Given the description of an element on the screen output the (x, y) to click on. 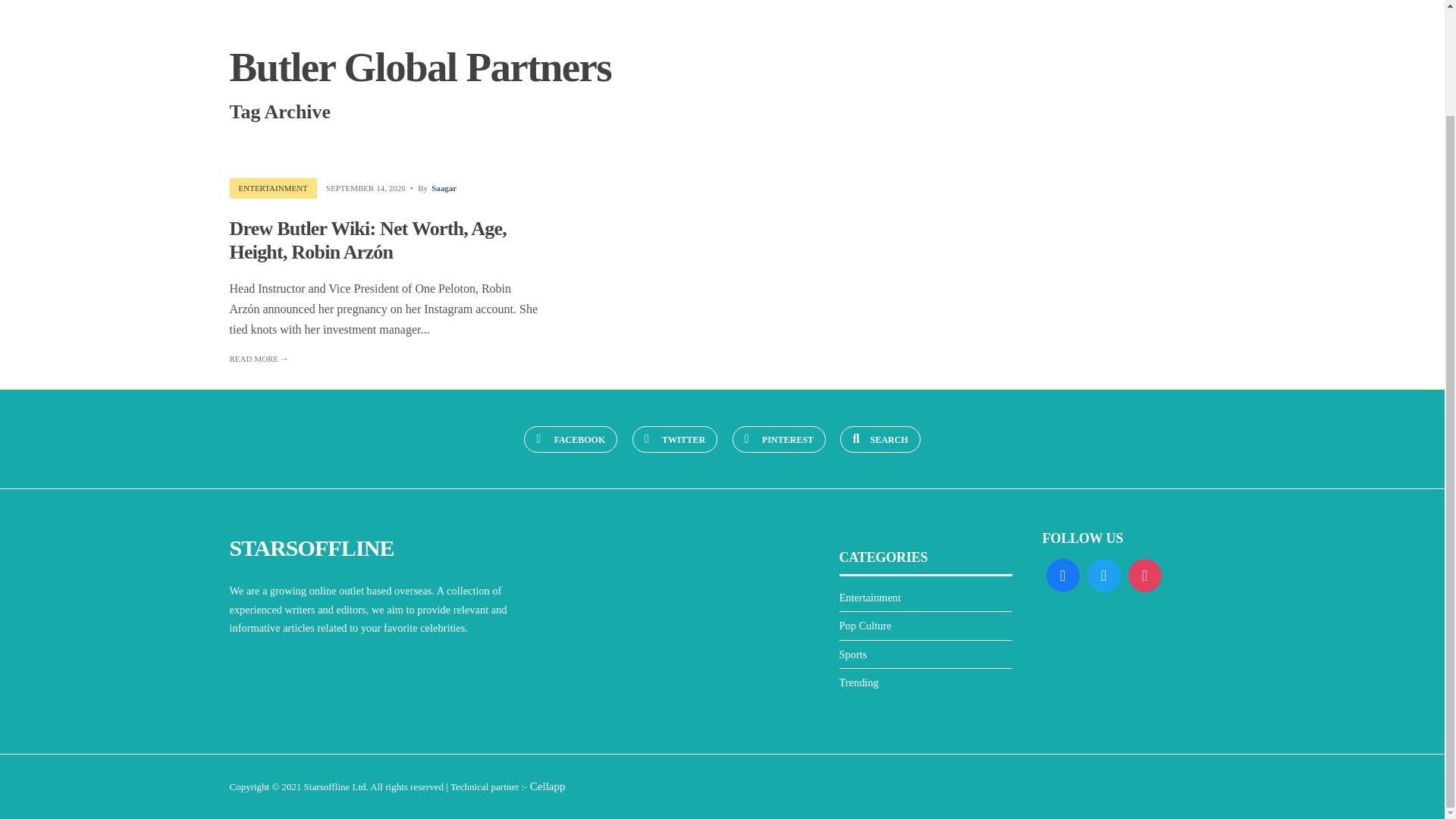
Posts by Saagar (443, 187)
SEARCH (880, 438)
Starsoffline (326, 786)
Saagar (443, 187)
Cellapp (547, 786)
Sports (852, 654)
ENTERTAINMENT (272, 187)
Pop Culture (864, 625)
PINTEREST (778, 438)
Pinterest (778, 438)
